Given the description of an element on the screen output the (x, y) to click on. 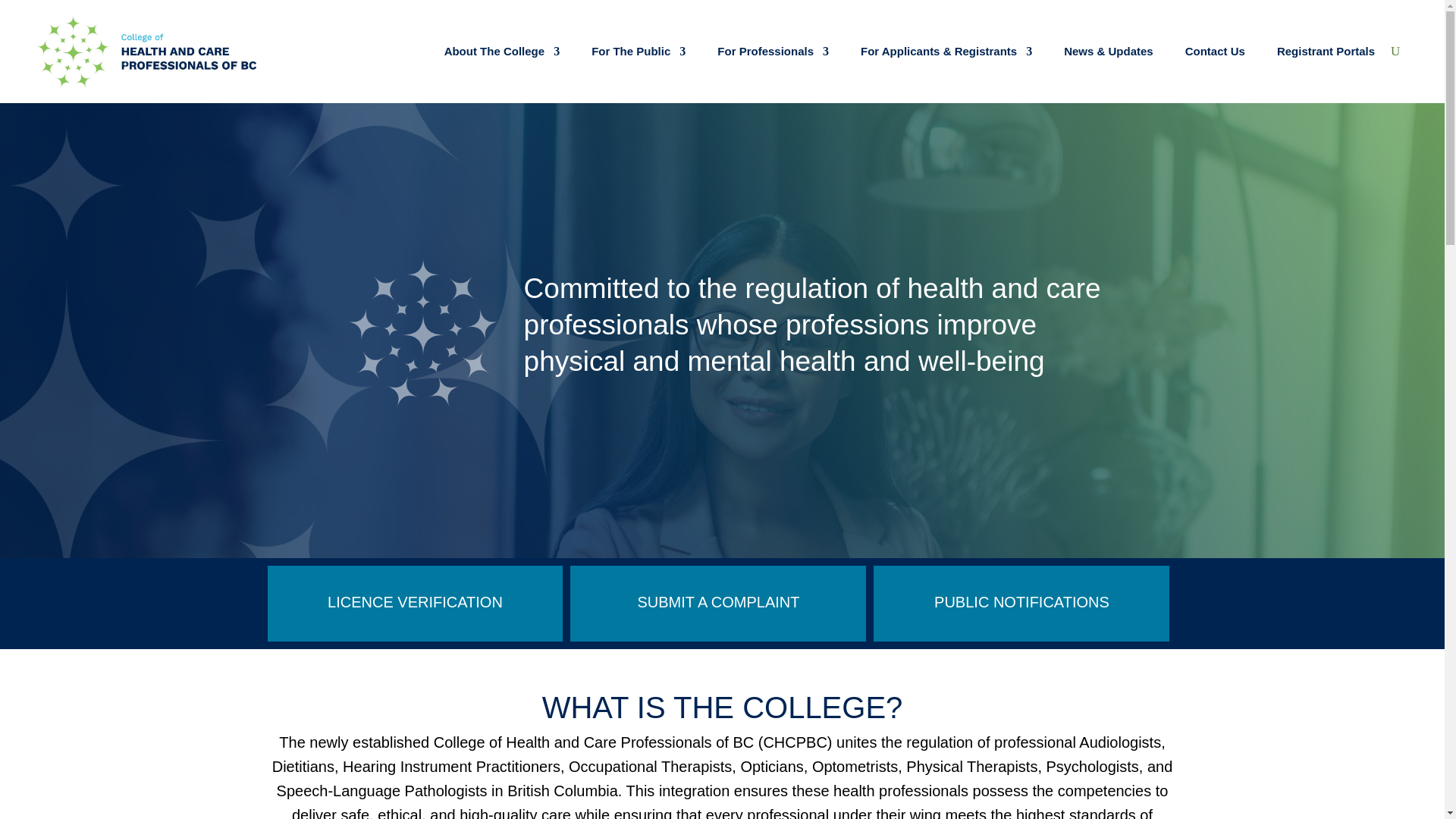
For The Public (638, 51)
About The College (502, 51)
Registrant Portals (1325, 51)
Contact Us (1214, 51)
For Professionals (772, 51)
